Given the description of an element on the screen output the (x, y) to click on. 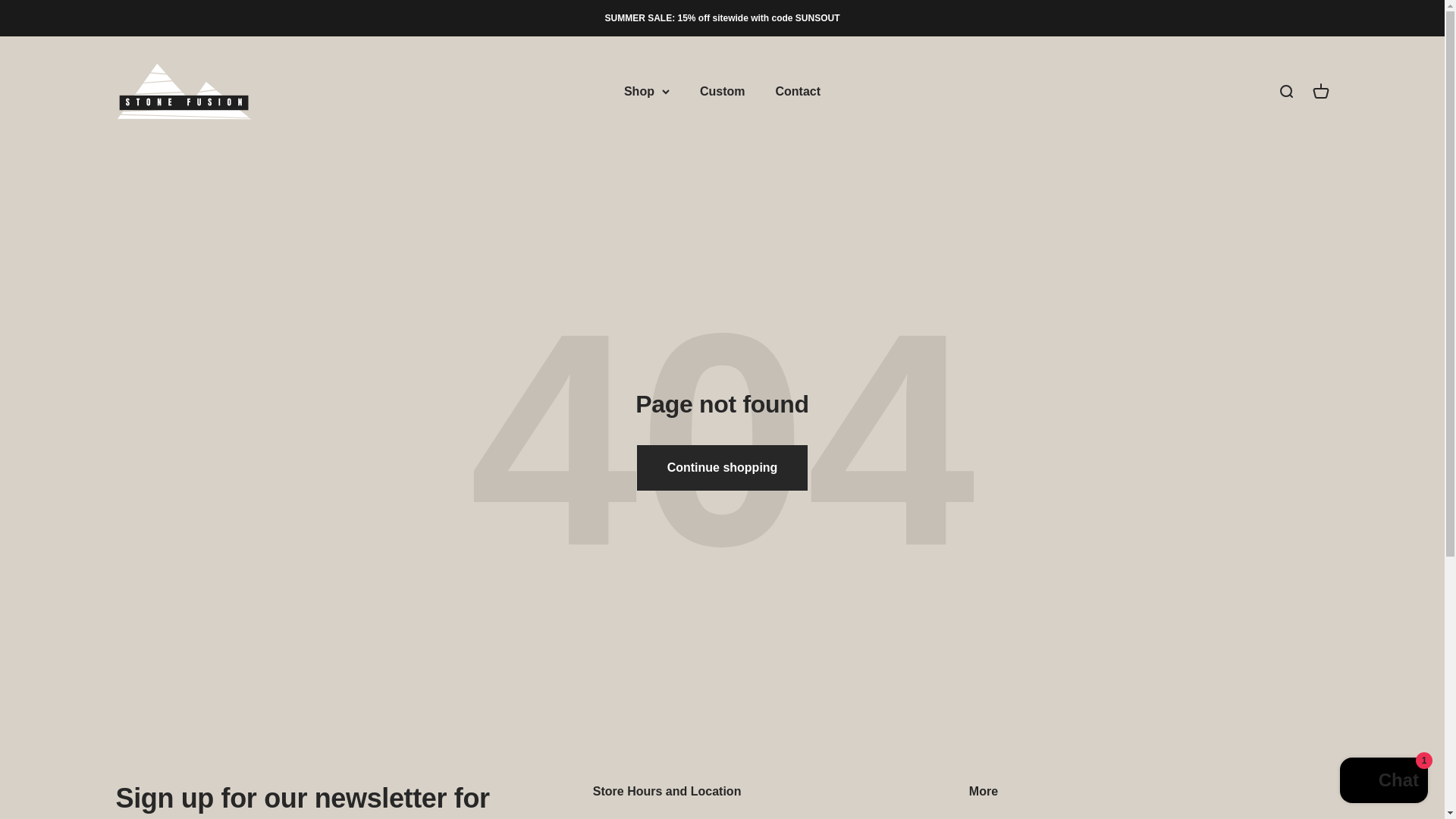
Custom (722, 91)
Stone Fusion (183, 91)
Shopify online store chat (1383, 781)
Contact (797, 91)
Open search (1319, 91)
Continue shopping (1285, 91)
